Given the description of an element on the screen output the (x, y) to click on. 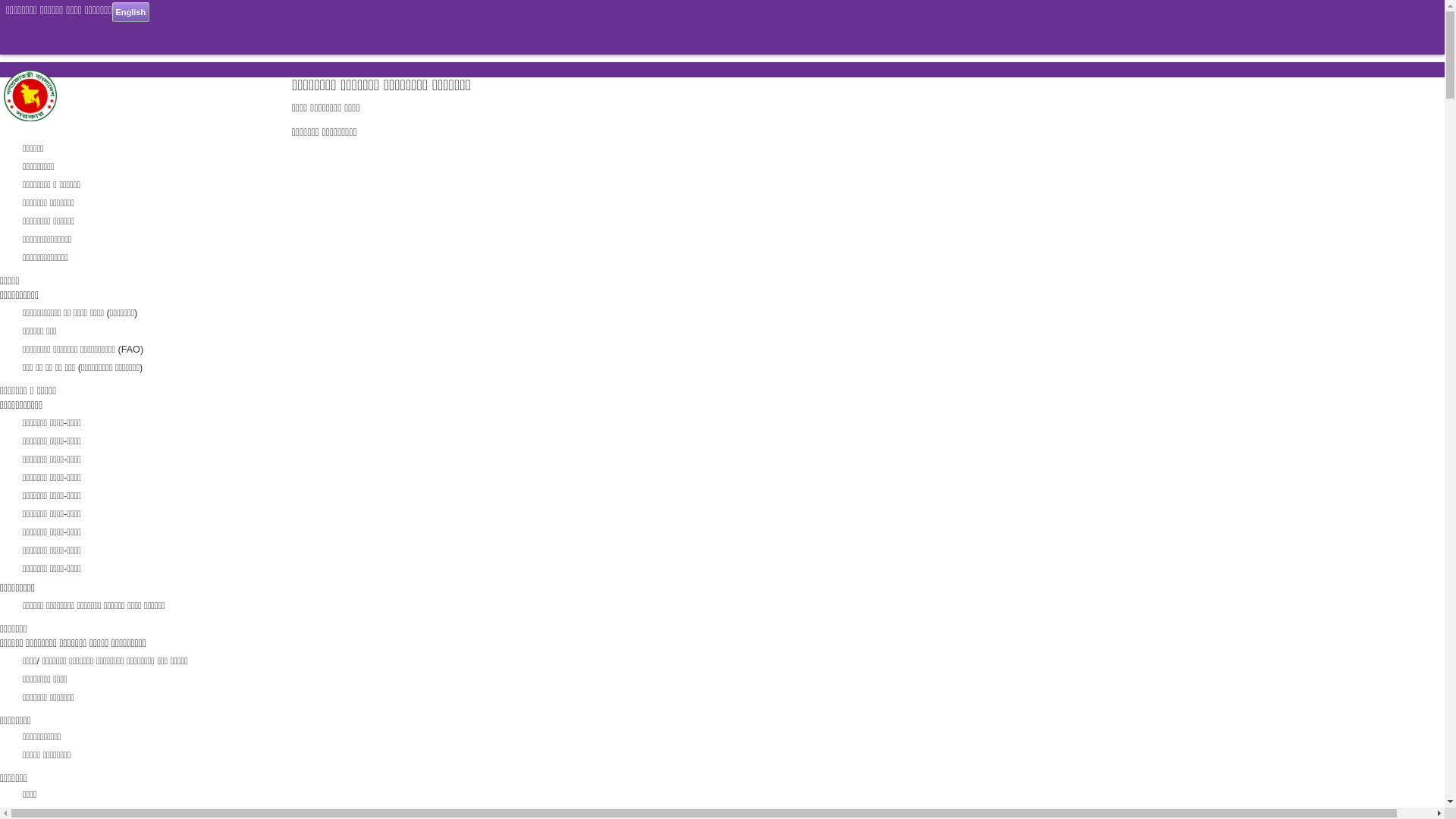
Home Element type: hover (29, 117)
English Element type: text (131, 11)
